Given the description of an element on the screen output the (x, y) to click on. 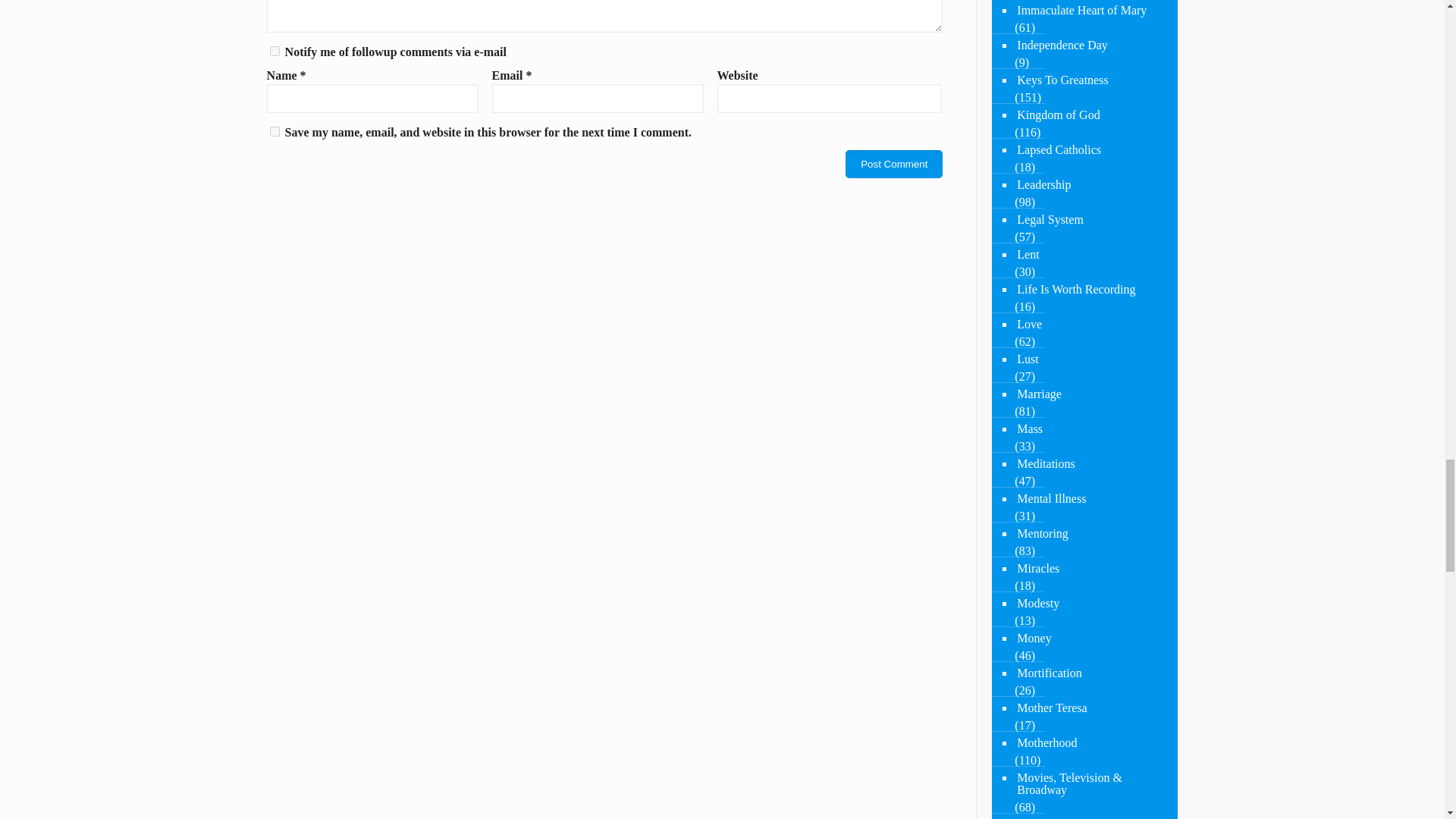
subscribe (274, 50)
yes (274, 131)
Post Comment (893, 163)
